Given the description of an element on the screen output the (x, y) to click on. 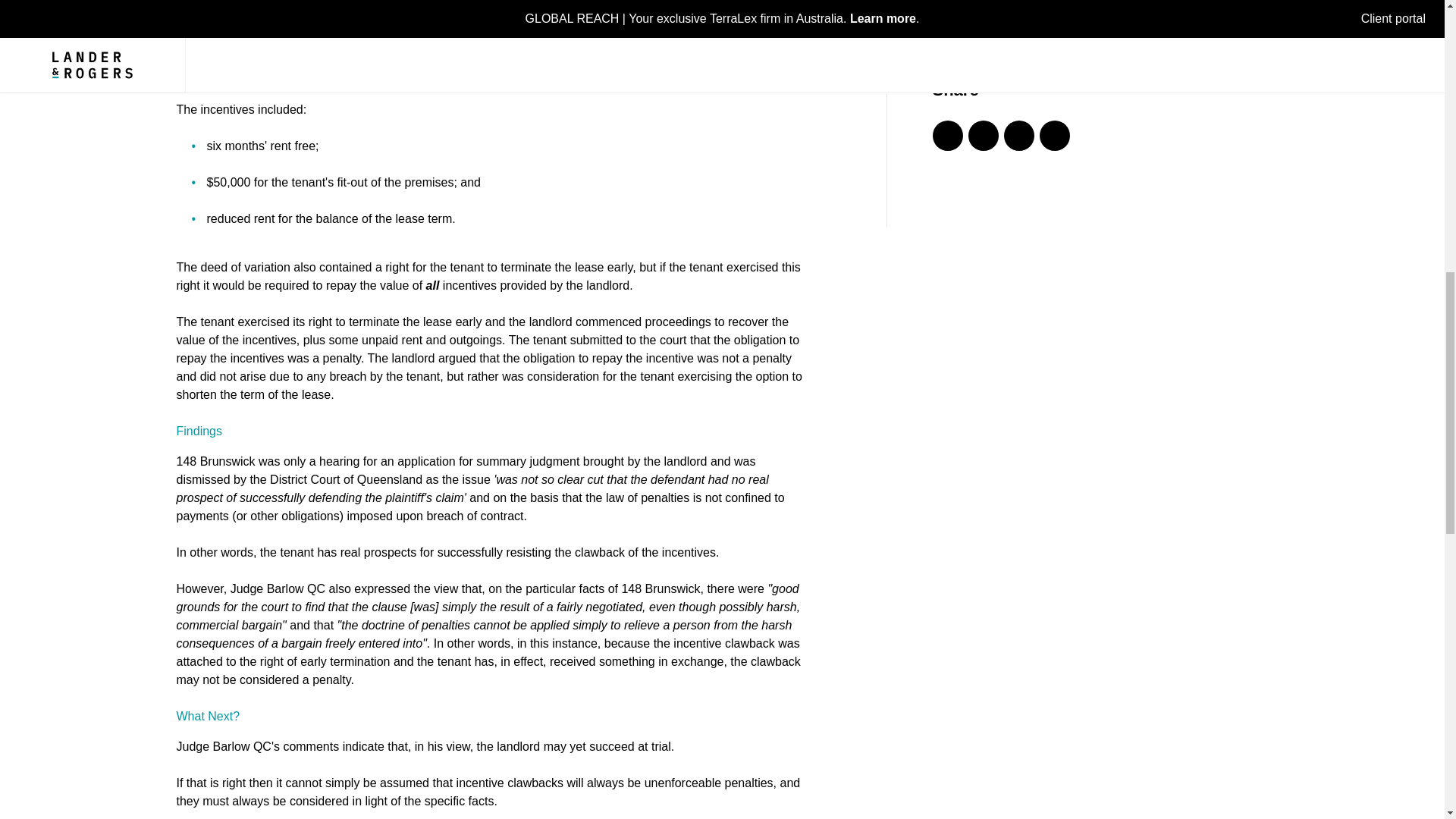
Real estate and projects (1000, 34)
